Given the description of an element on the screen output the (x, y) to click on. 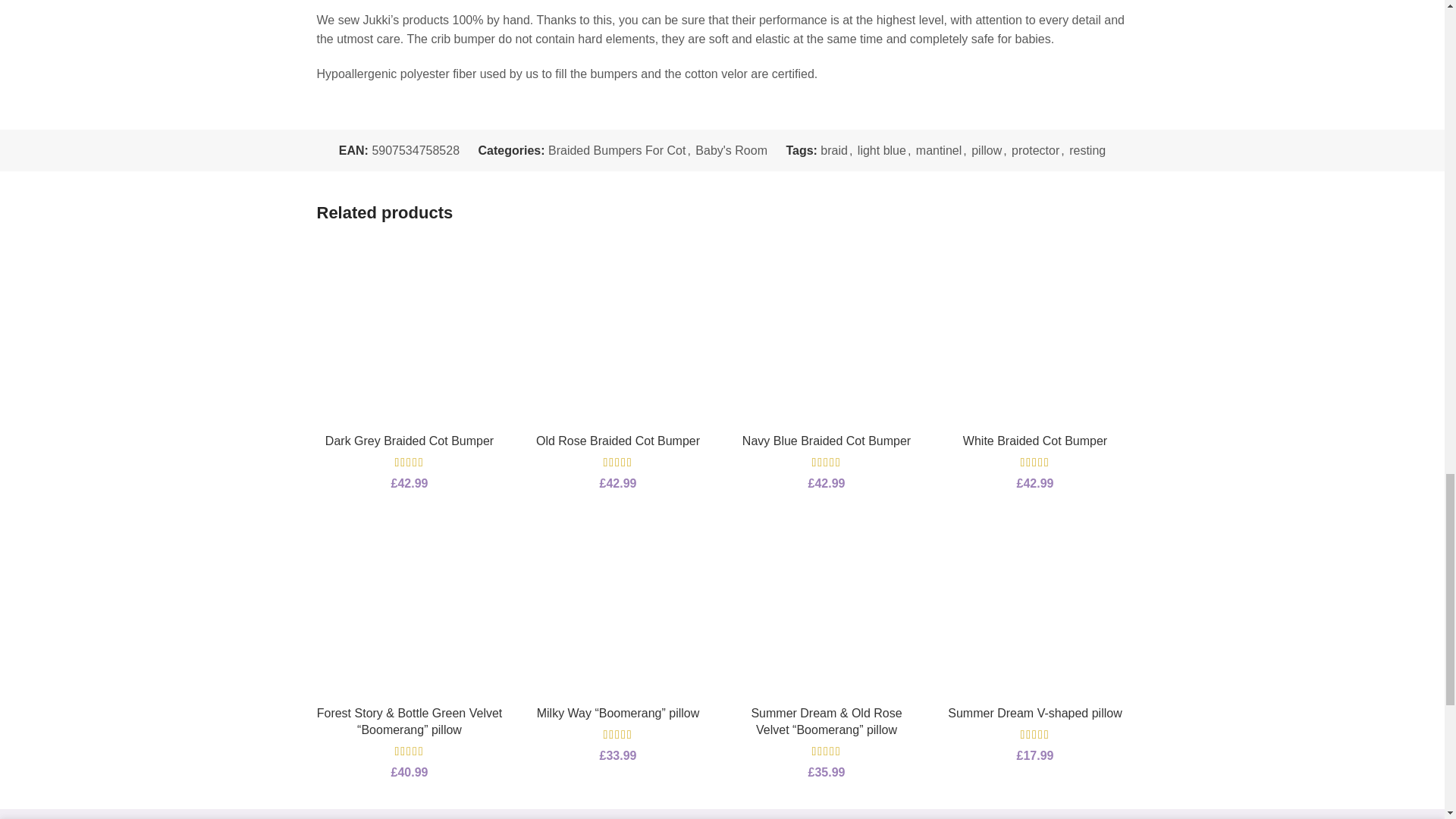
Baby's Room (731, 150)
pillow (986, 150)
protector (1035, 150)
braid (834, 150)
light blue (881, 150)
mantinel (937, 150)
Braided Bumpers For Cot (616, 150)
Dark Grey Braided Cot Bumper (408, 440)
resting (1086, 150)
